Given the description of an element on the screen output the (x, y) to click on. 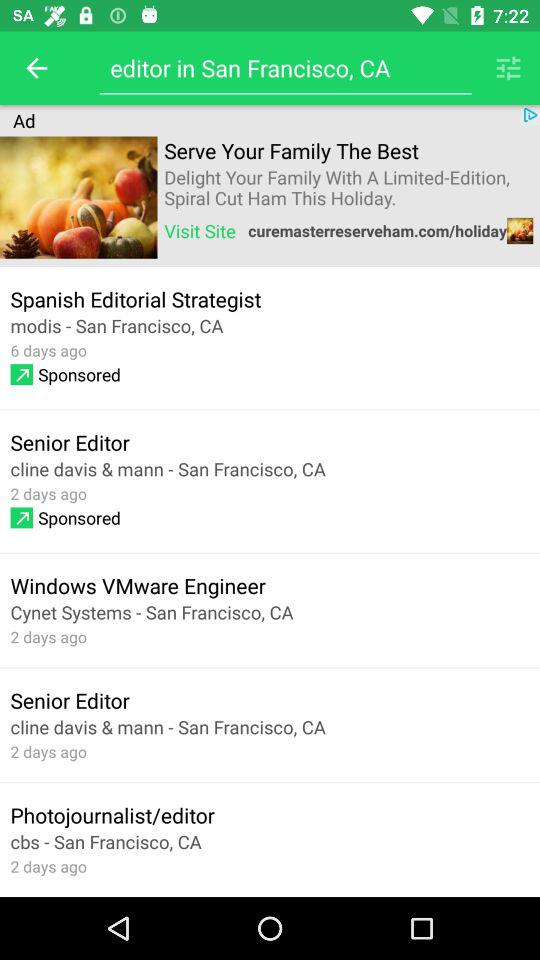
jump to the visit site (199, 230)
